Given the description of an element on the screen output the (x, y) to click on. 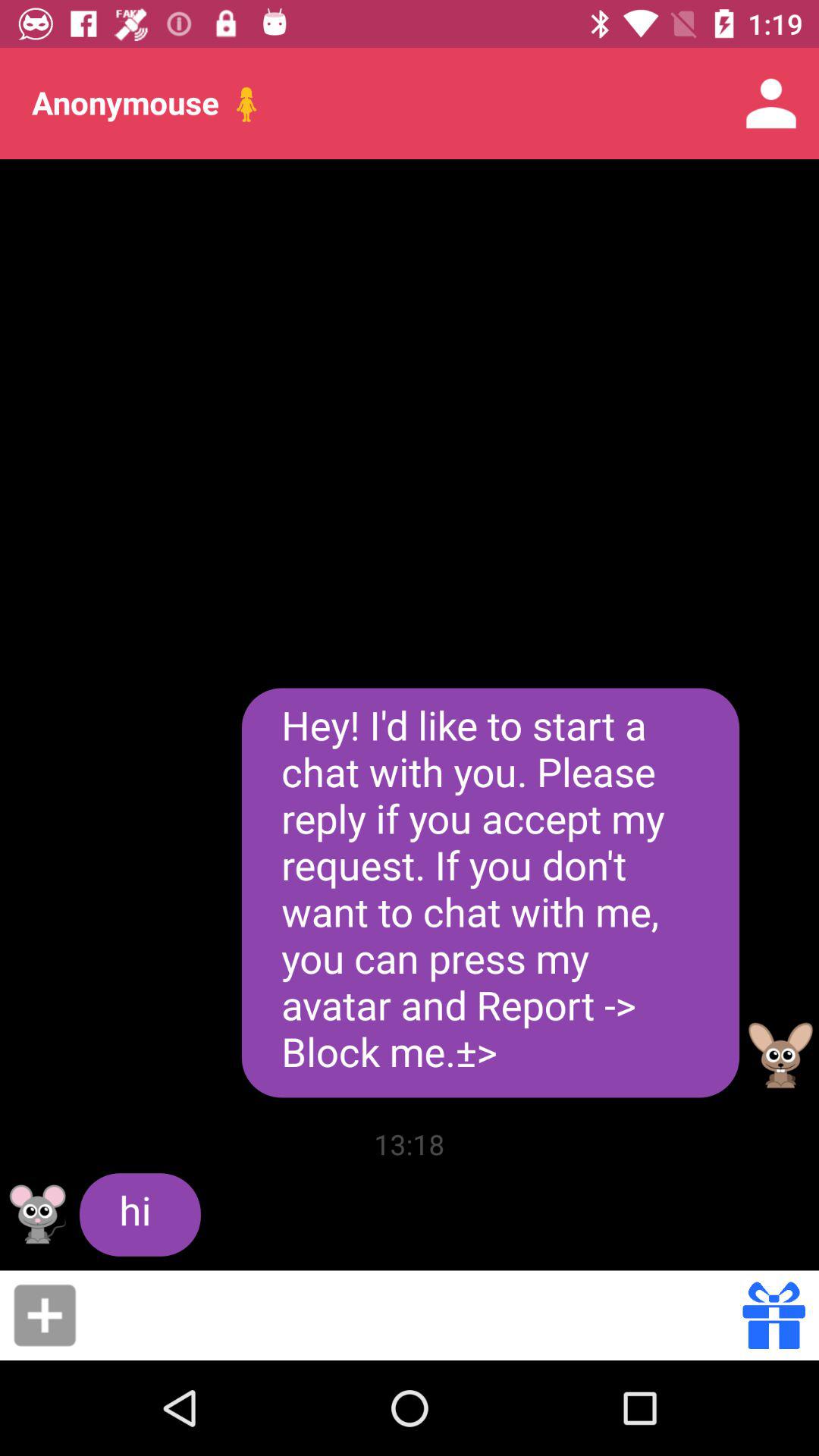
scroll to the 13:18 (409, 1144)
